Given the description of an element on the screen output the (x, y) to click on. 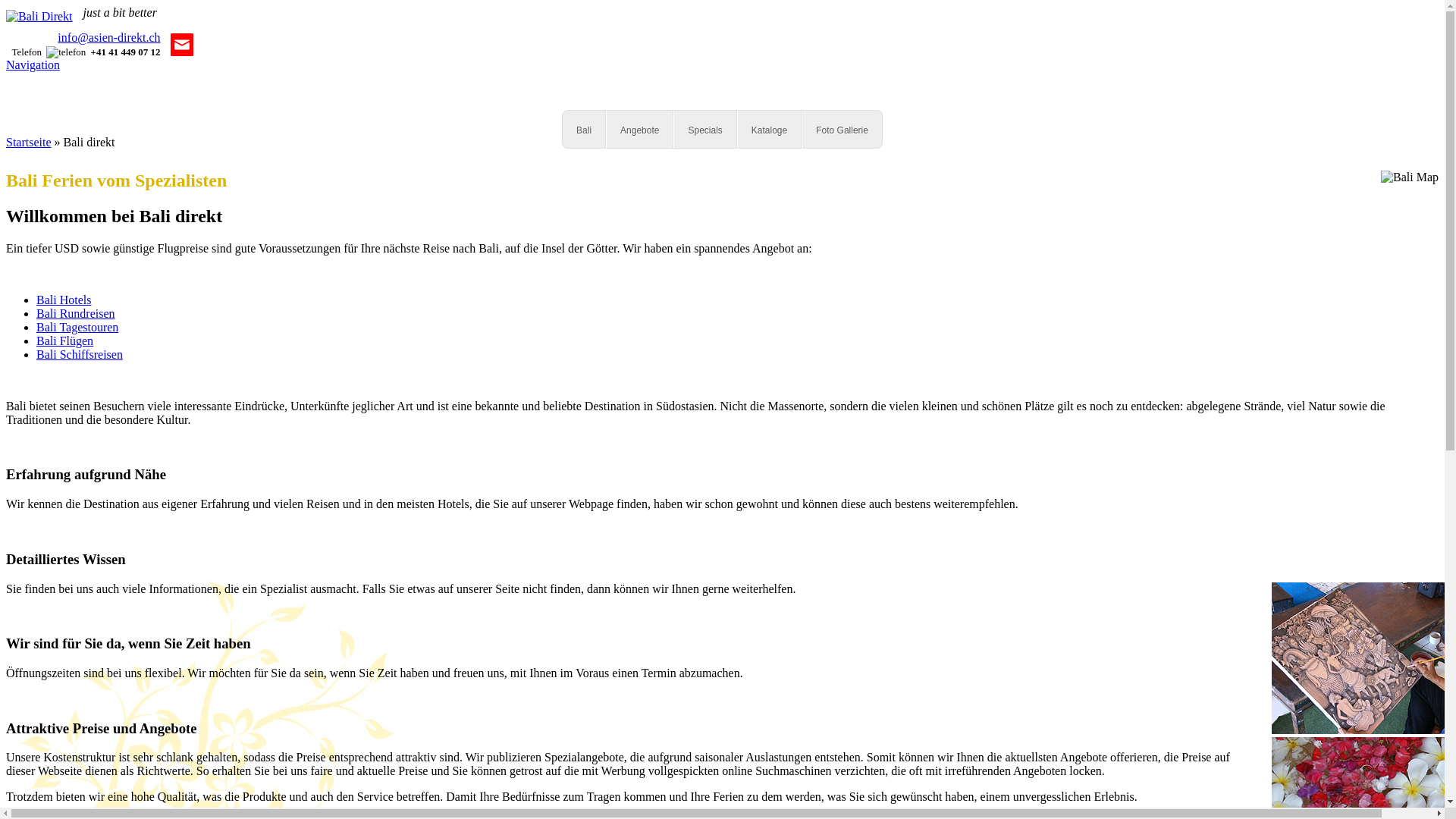
Startseite Element type: text (28, 141)
Angebote Element type: text (639, 130)
Kataloge Element type: text (768, 130)
Specials Element type: text (704, 130)
Bali Rundreisen Element type: text (75, 313)
Bali Hotels Element type: text (63, 299)
info@asien-direkt.ch Element type: text (108, 37)
Bali Element type: text (583, 130)
Navigation Element type: text (32, 64)
Foto Gallerie Element type: text (841, 130)
Bali Tagestouren Element type: text (77, 326)
Bali Schiffsreisen Element type: text (79, 354)
